Given the description of an element on the screen output the (x, y) to click on. 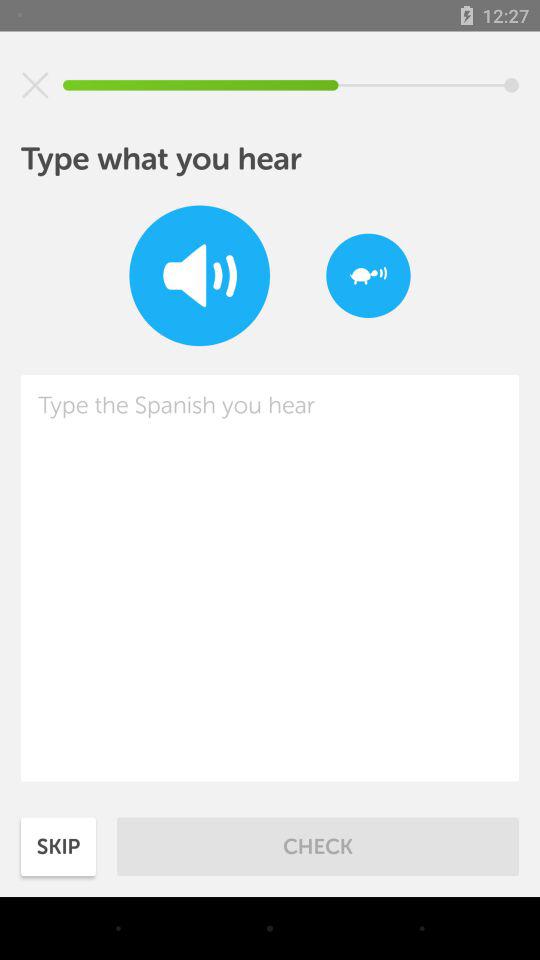
turn on the skip icon (58, 846)
